Given the description of an element on the screen output the (x, y) to click on. 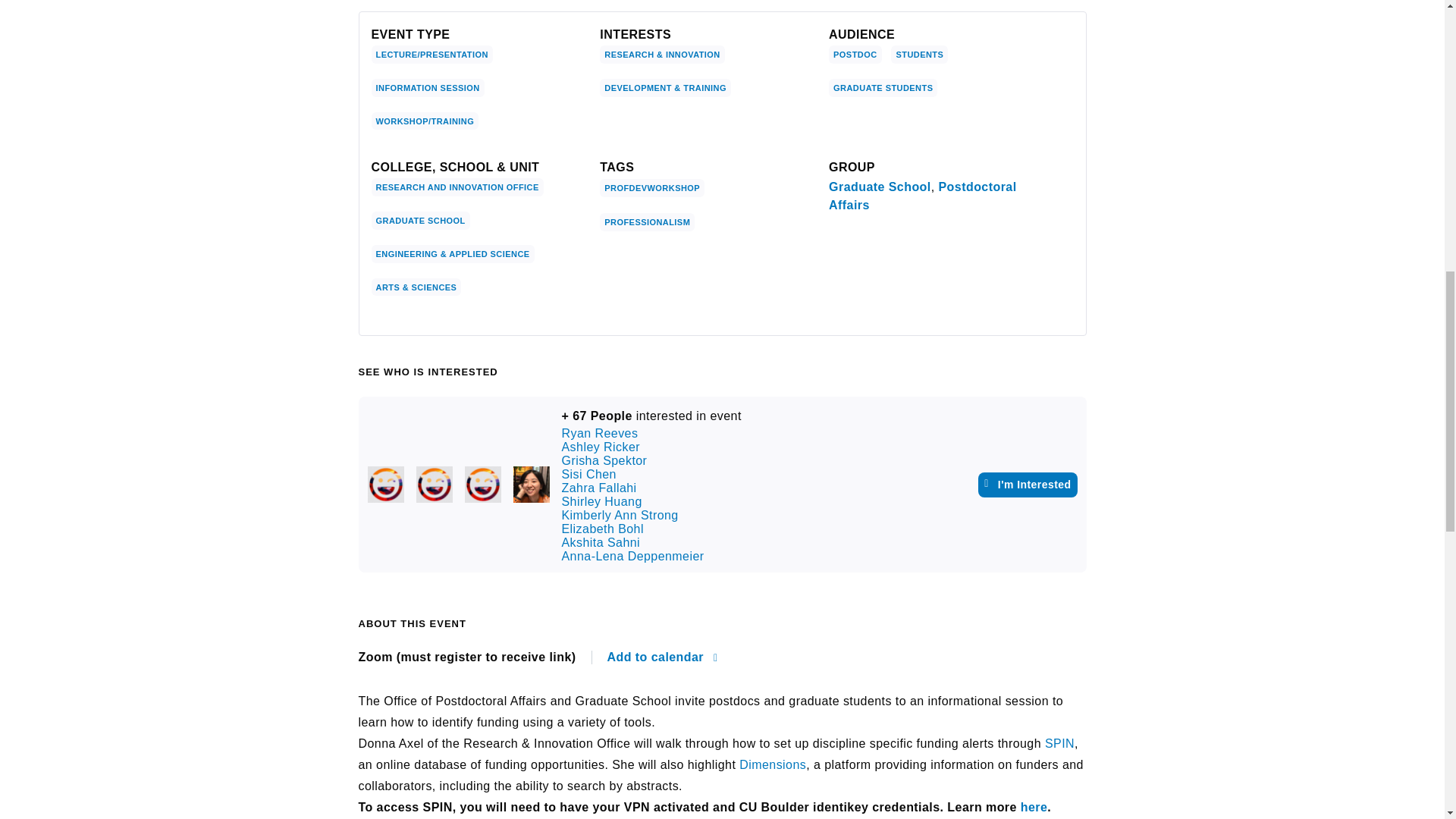
Sisi Chen (530, 484)
INFORMATION SESSION (427, 87)
POSTDOC (854, 54)
Ashley Ricker (432, 484)
Grisha Spektor (482, 484)
Ryan Reeves (384, 484)
